Given the description of an element on the screen output the (x, y) to click on. 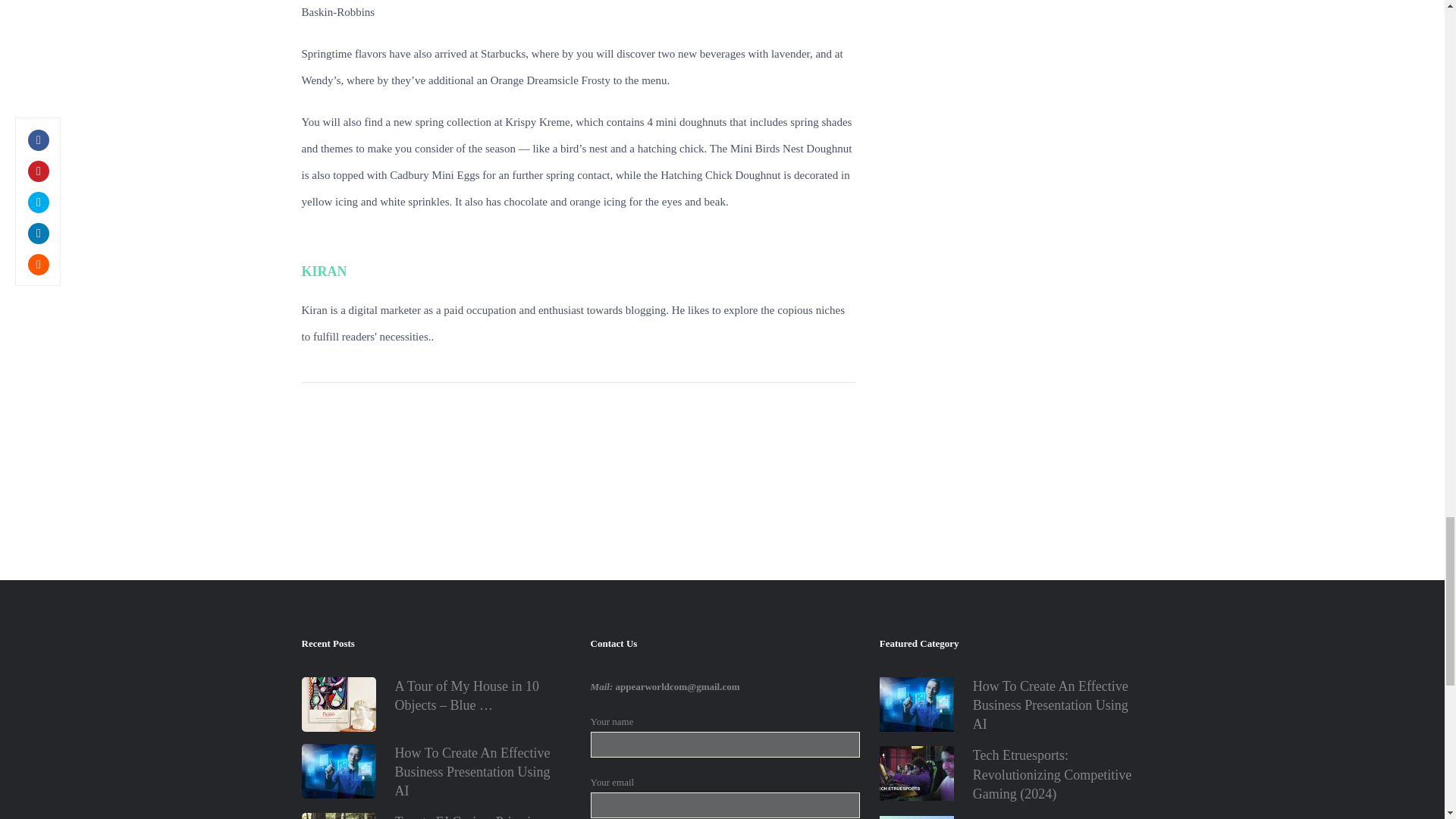
KIRAN (324, 271)
